Given the description of an element on the screen output the (x, y) to click on. 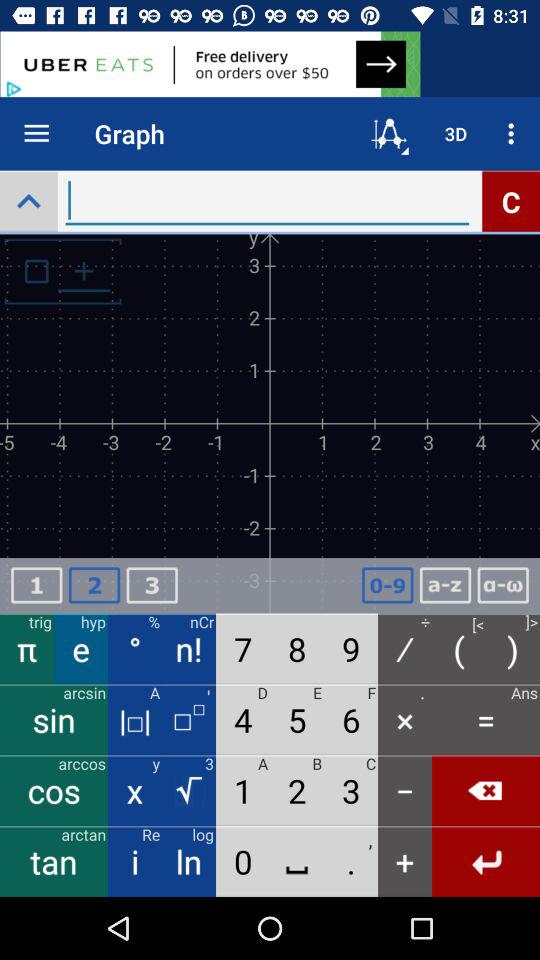
search option (28, 200)
